Given the description of an element on the screen output the (x, y) to click on. 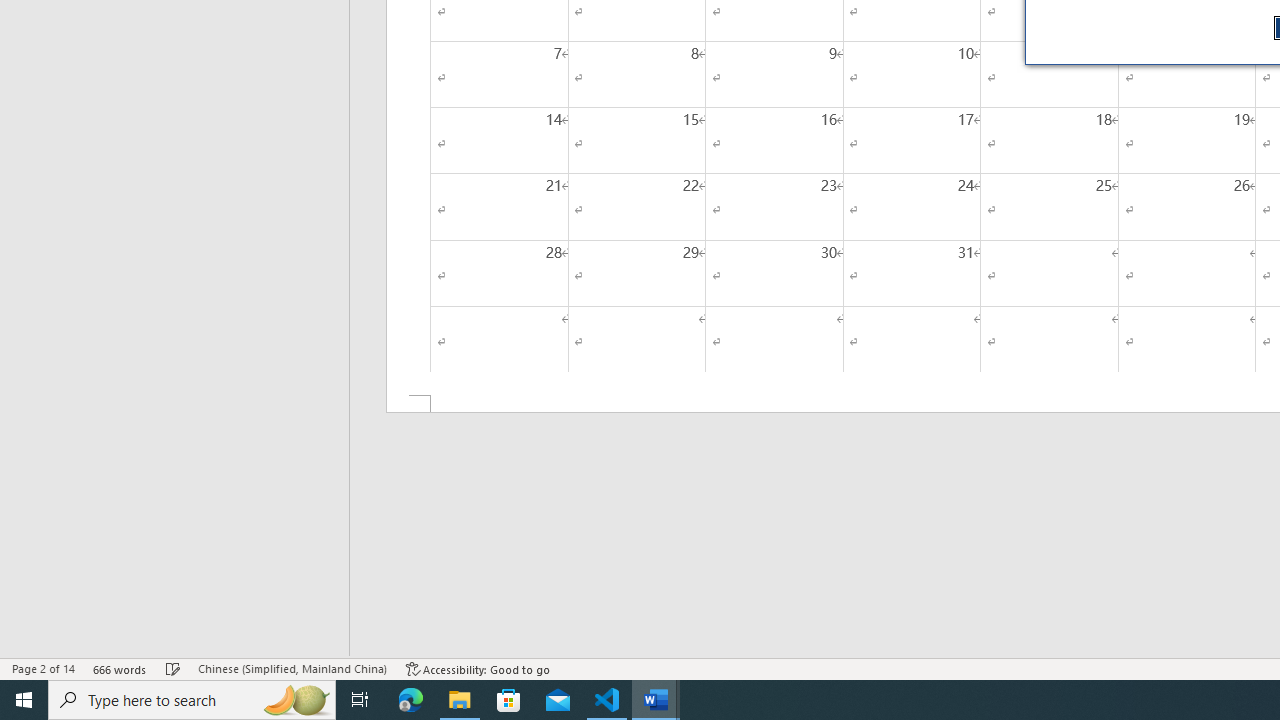
Spelling and Grammar Check Checking (173, 668)
Page Number Page 2 of 14 (43, 668)
Word Count 666 words (119, 668)
Microsoft Store (509, 699)
Type here to search (191, 699)
Language Chinese (Simplified, Mainland China) (292, 668)
Search highlights icon opens search home window (295, 699)
Start (24, 699)
Word - 2 running windows (656, 699)
File Explorer - 1 running window (460, 699)
Microsoft Edge (411, 699)
Visual Studio Code - 1 running window (607, 699)
Task View (359, 699)
